Given the description of an element on the screen output the (x, y) to click on. 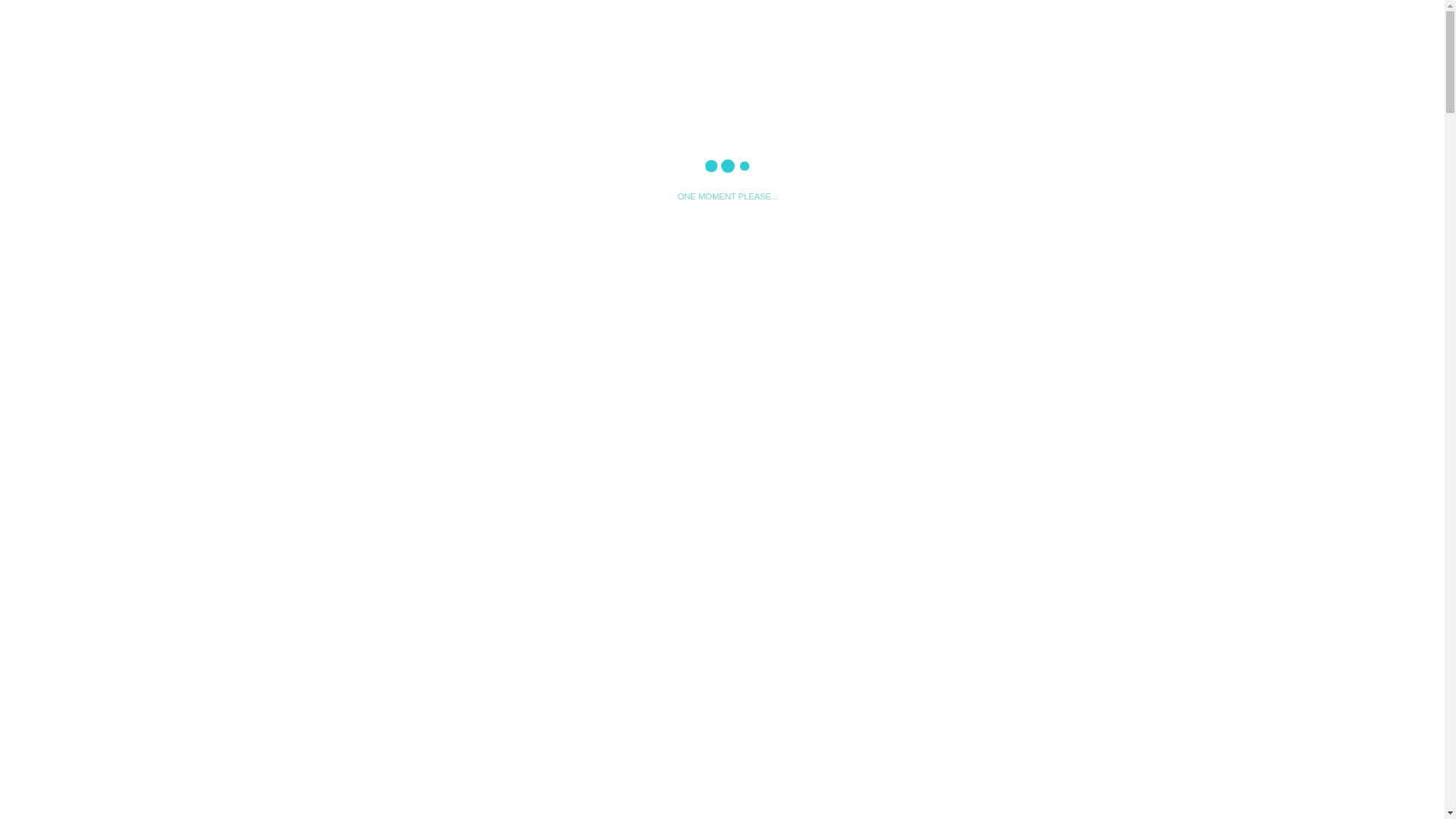
Pay.aw Element type: text (761, 18)
App Store Element type: text (532, 347)
Contact Element type: text (1119, 18)
Vendors Element type: text (943, 18)
News Element type: text (850, 18)
QUICK START Element type: text (458, 443)
FAQs Element type: text (1035, 18)
Play Store Element type: text (374, 347)
